Given the description of an element on the screen output the (x, y) to click on. 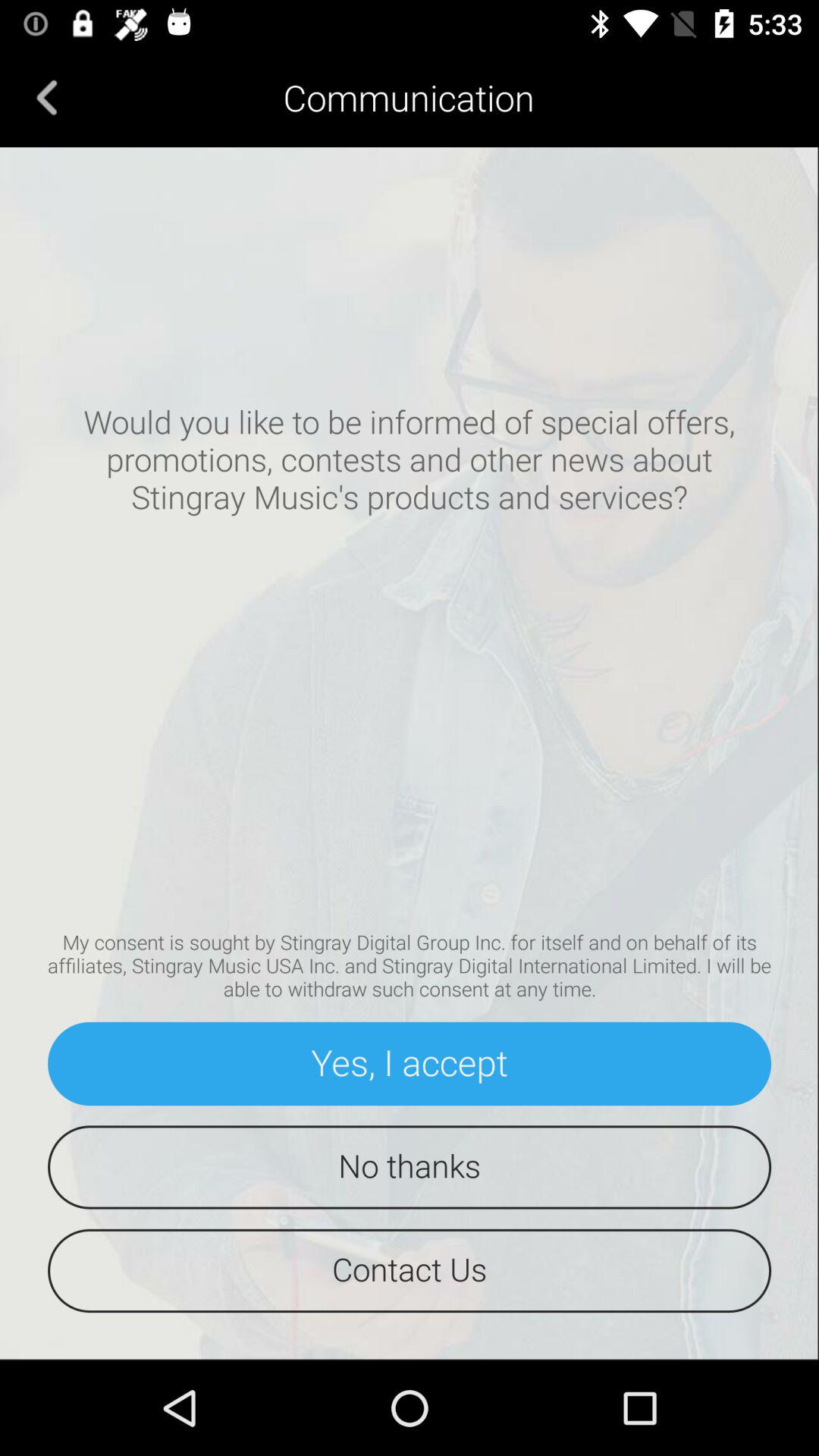
select contact us item (409, 1270)
